Given the description of an element on the screen output the (x, y) to click on. 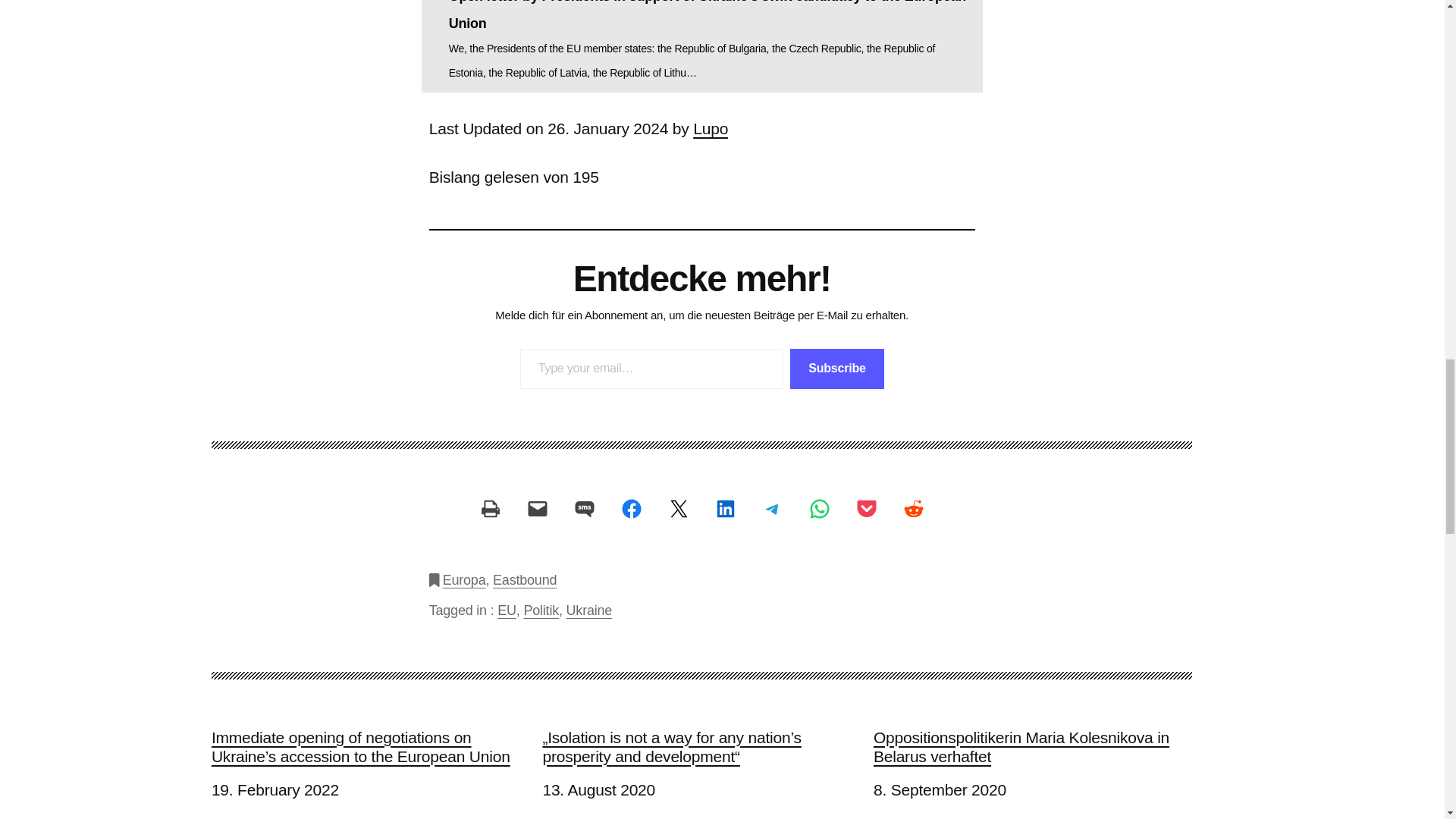
Share on Telegram (772, 508)
Share on Reddit (913, 508)
Lupo (710, 128)
Share on LinkedIn (725, 508)
Eastbound (524, 580)
Subscribe (836, 368)
EU (506, 610)
Print this Page (490, 508)
Europa (464, 580)
Politik (540, 610)
